Given the description of an element on the screen output the (x, y) to click on. 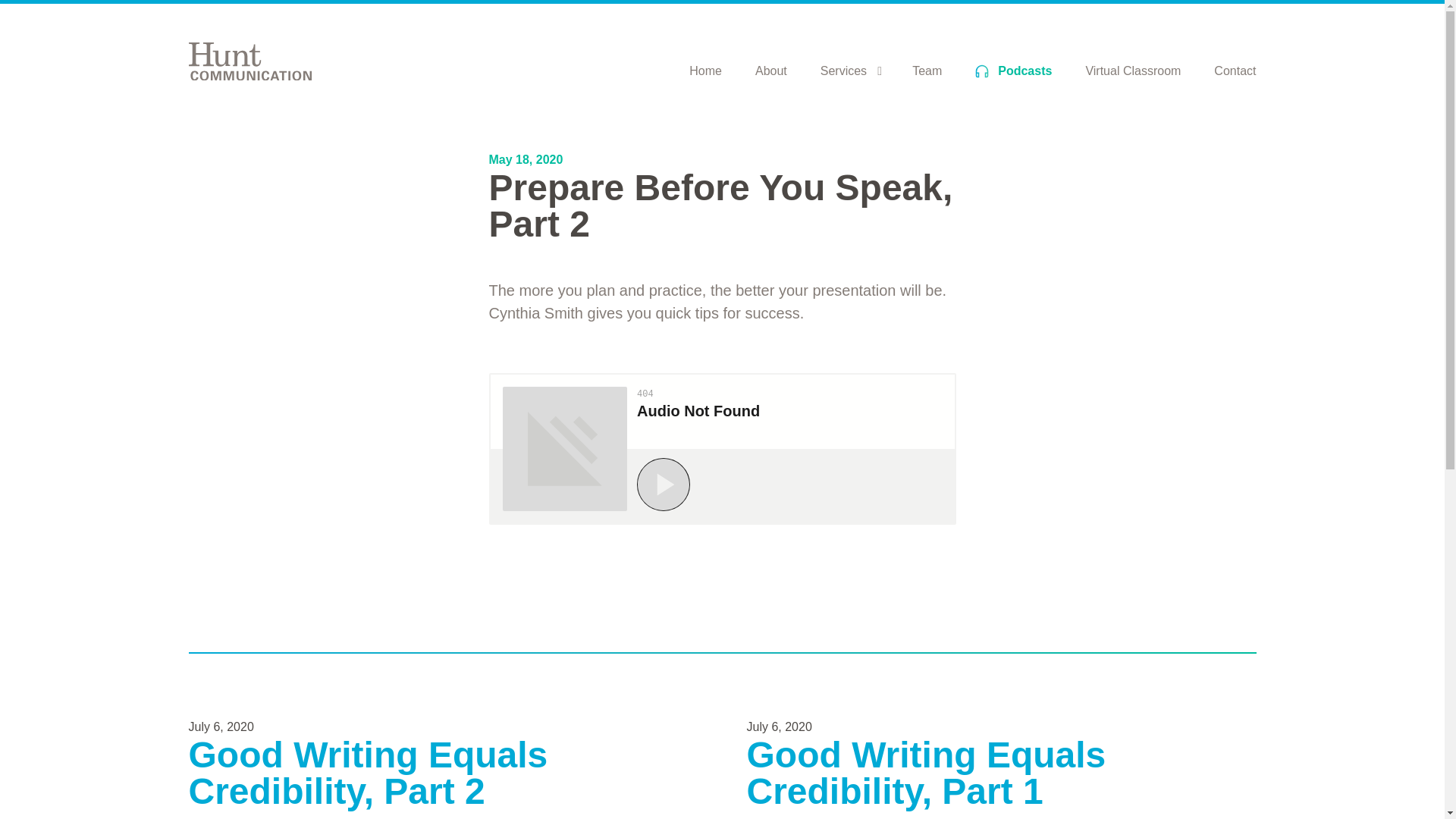
About (771, 71)
Contact (1234, 71)
Podcasts (1013, 71)
Home (705, 71)
Virtual Classroom (1132, 71)
Services (843, 71)
Hunt Communication (249, 61)
Prepare Before You Speak, Part 2 (721, 448)
Team (927, 71)
